Given the description of an element on the screen output the (x, y) to click on. 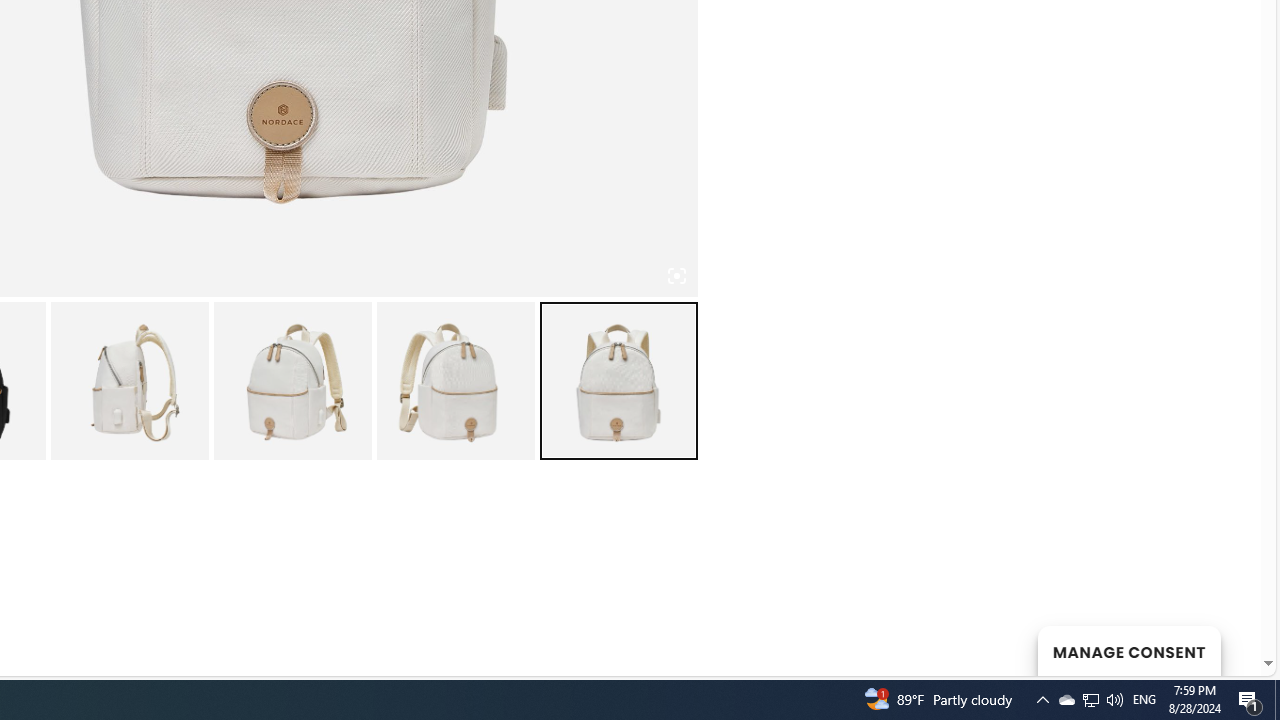
MANAGE CONSENT (1128, 650)
Class: iconic-woothumbs-fullscreen (676, 276)
Nordace Ventas Mini Backpack (128, 380)
